Given the description of an element on the screen output the (x, y) to click on. 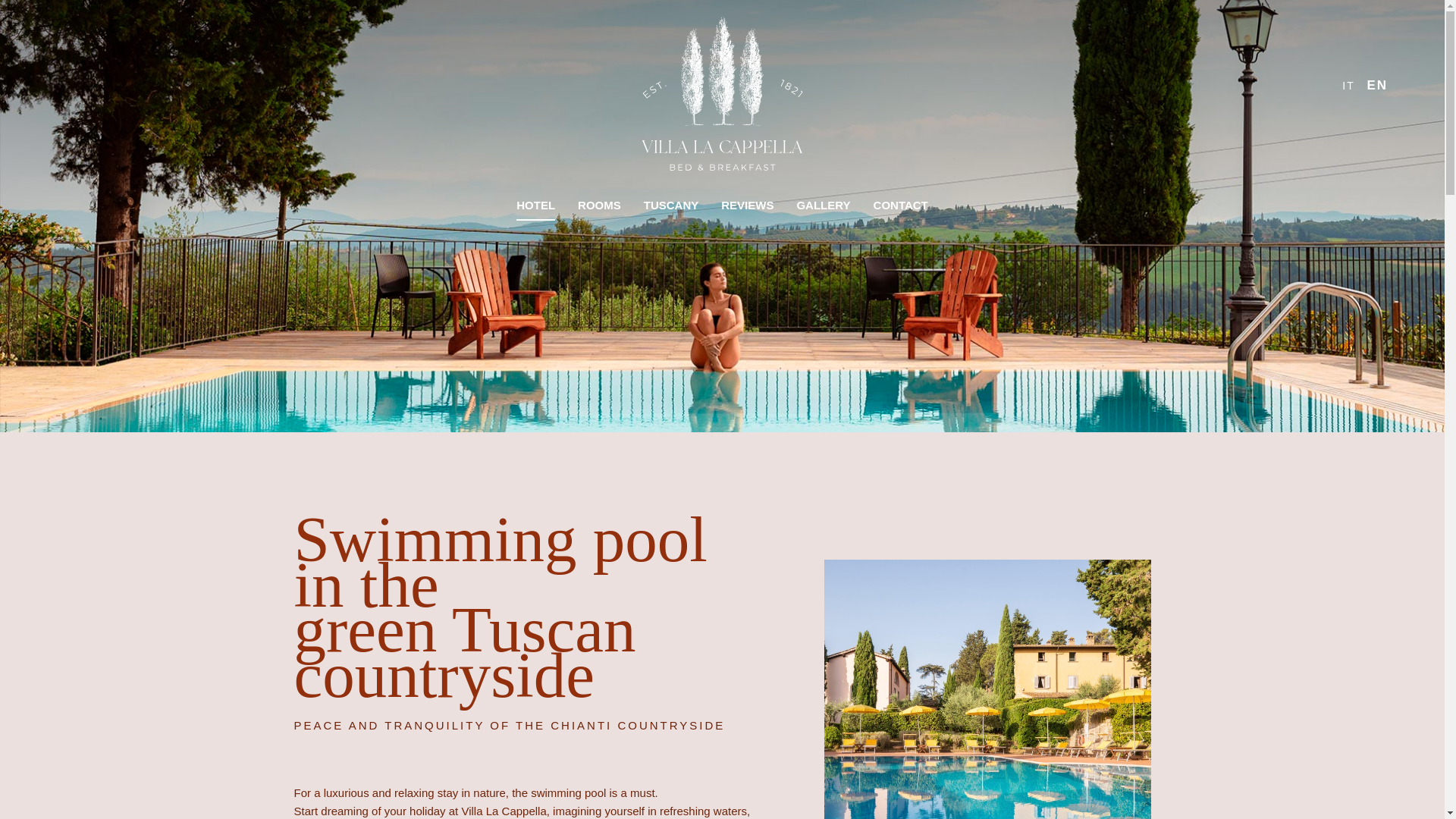
TUSCANY (670, 204)
HOTEL (535, 204)
EN (1377, 84)
CONTACT (900, 204)
GALLERY (822, 204)
REVIEWS (747, 204)
IT (1350, 85)
ROOMS (598, 204)
